Given the description of an element on the screen output the (x, y) to click on. 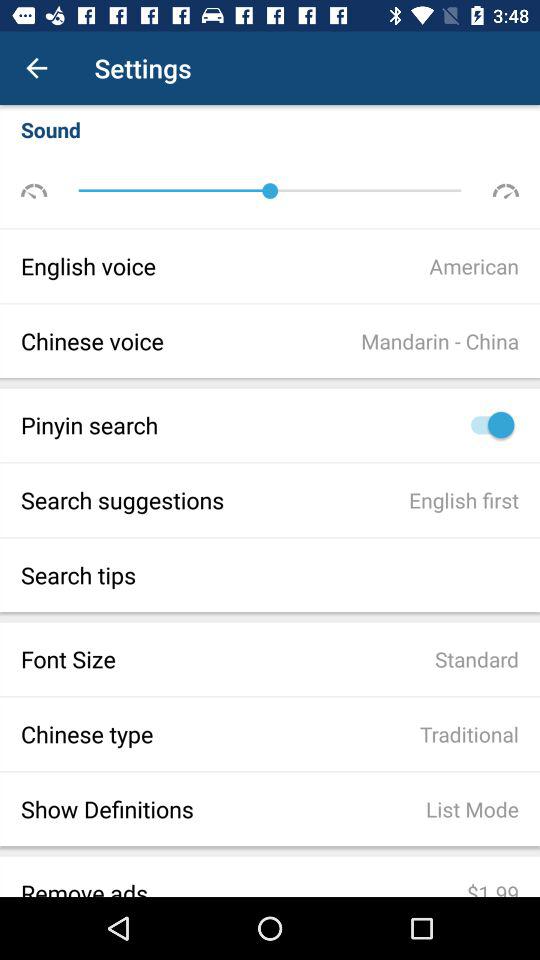
click item to the right of the pinyin search item (487, 424)
